Given the description of an element on the screen output the (x, y) to click on. 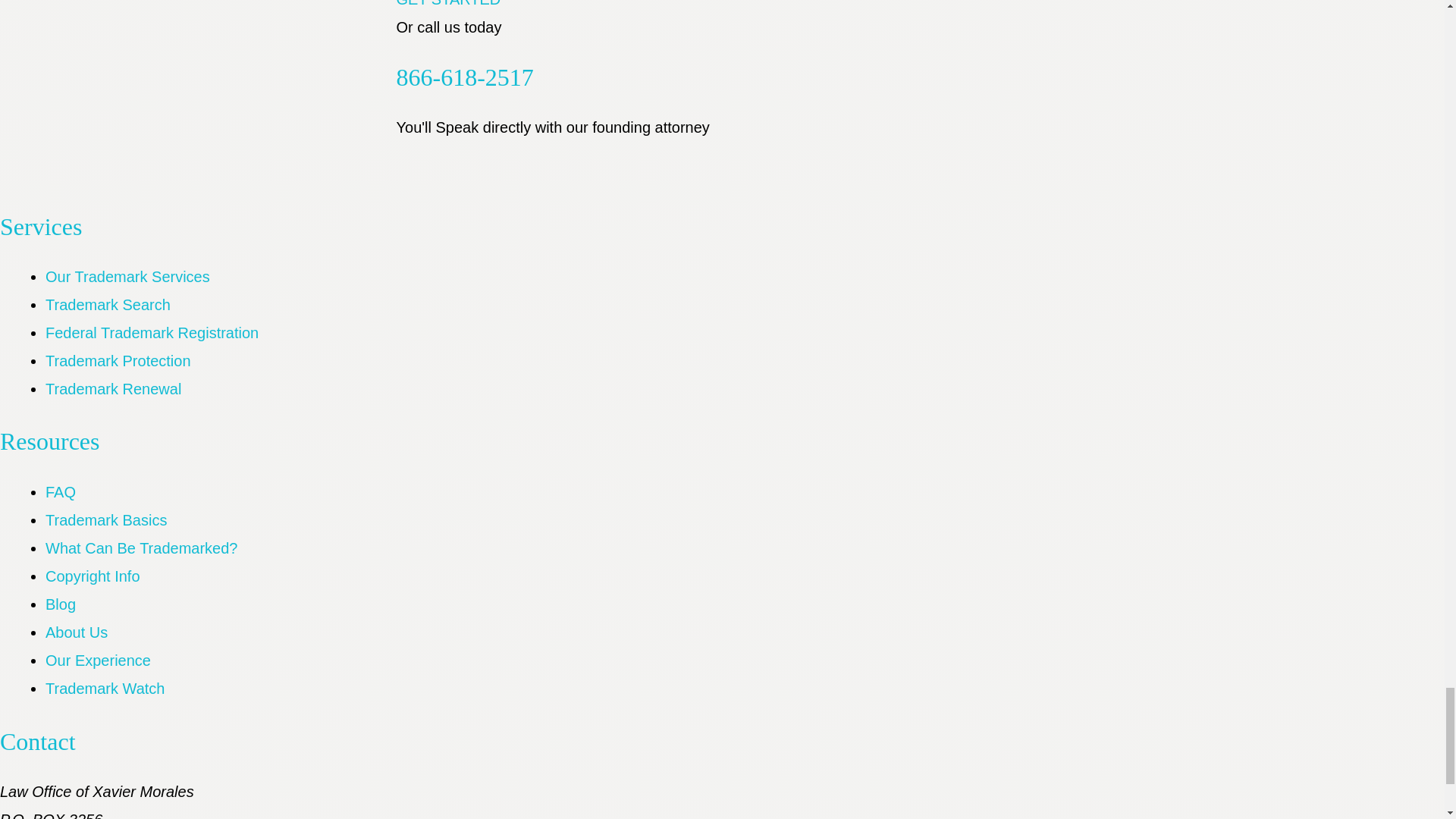
Copyright Info (92, 576)
Trademark Basics (106, 519)
Our Trademark Services (127, 276)
About Us (76, 632)
Our Experience (98, 660)
What Can Be Trademarked? (141, 547)
Trademark Search (107, 304)
Federal Trademark Registration (152, 332)
Trademark Watch (104, 688)
FAQ (60, 492)
GET STARTED (448, 3)
Trademark Protection (117, 360)
Trademark Renewal (112, 388)
Blog (60, 604)
